Given the description of an element on the screen output the (x, y) to click on. 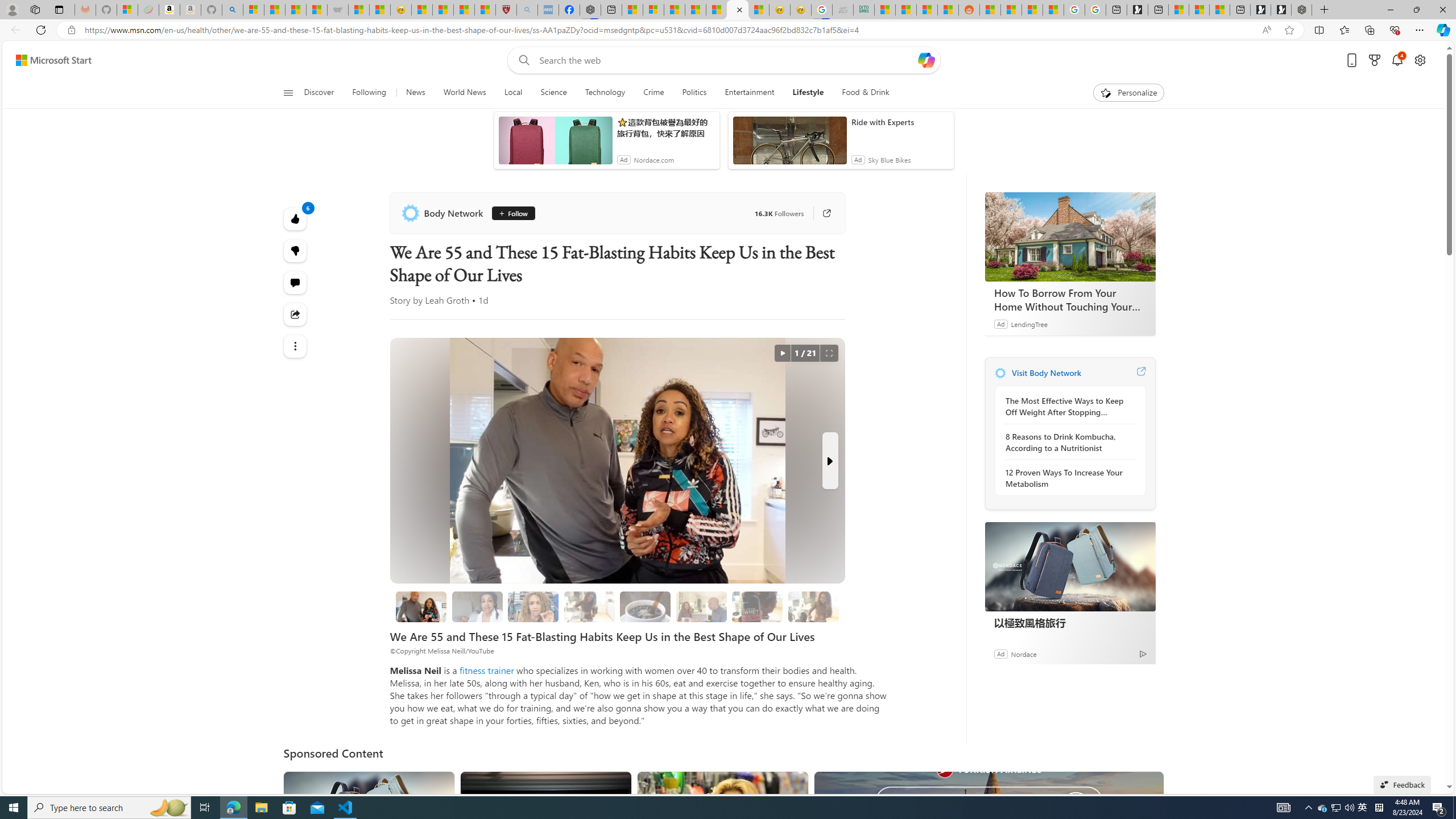
5 She Eats Less Than Her Husband (700, 606)
These 3 Stocks Pay You More Than 5% to Own Them (1219, 9)
Nordace.com (653, 159)
14 Common Myths Debunked By Scientific Facts (716, 9)
3 They Drink Lemon Tea (589, 606)
